Given the description of an element on the screen output the (x, y) to click on. 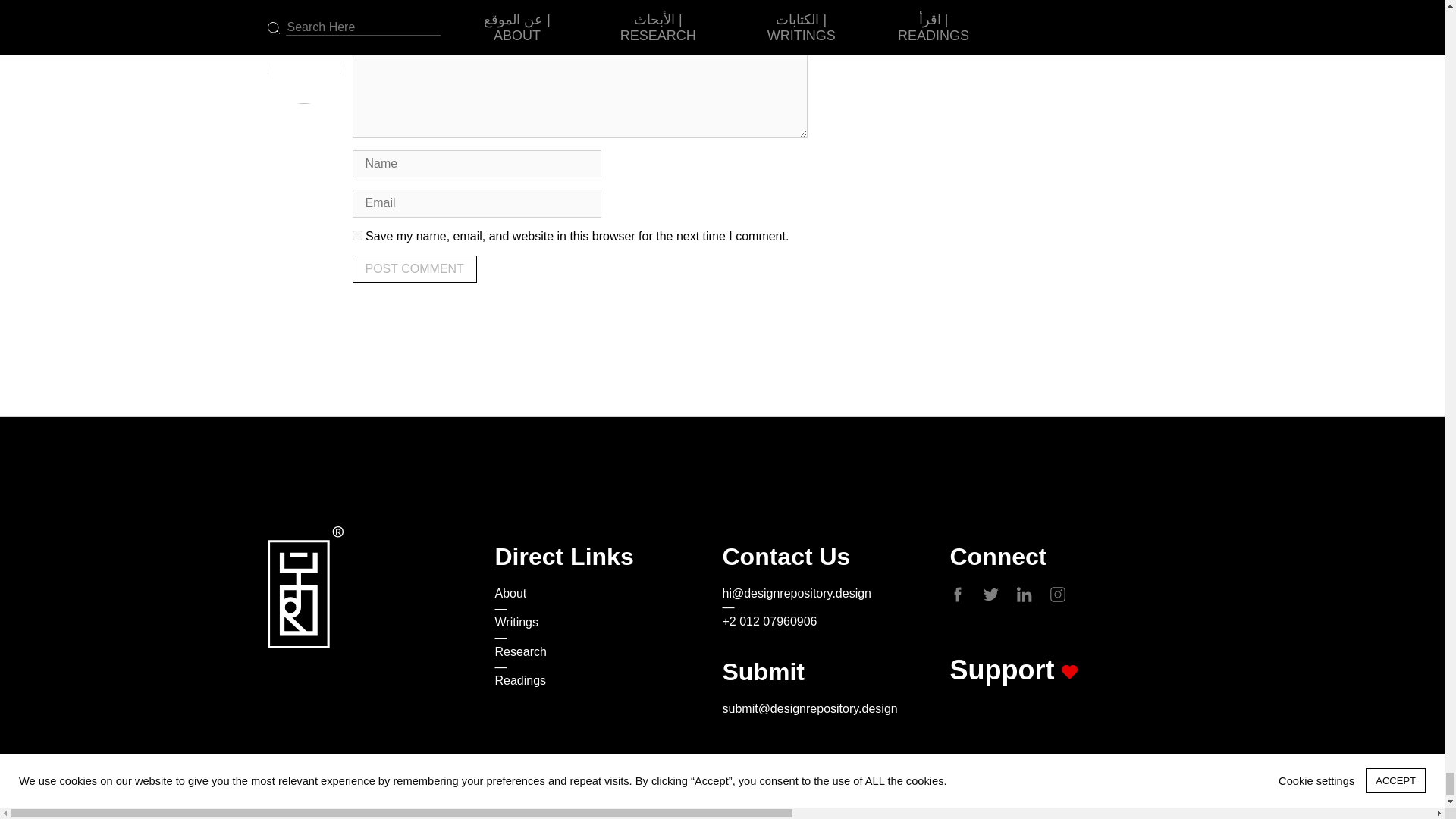
Post Comment (414, 268)
yes (356, 235)
